Given the description of an element on the screen output the (x, y) to click on. 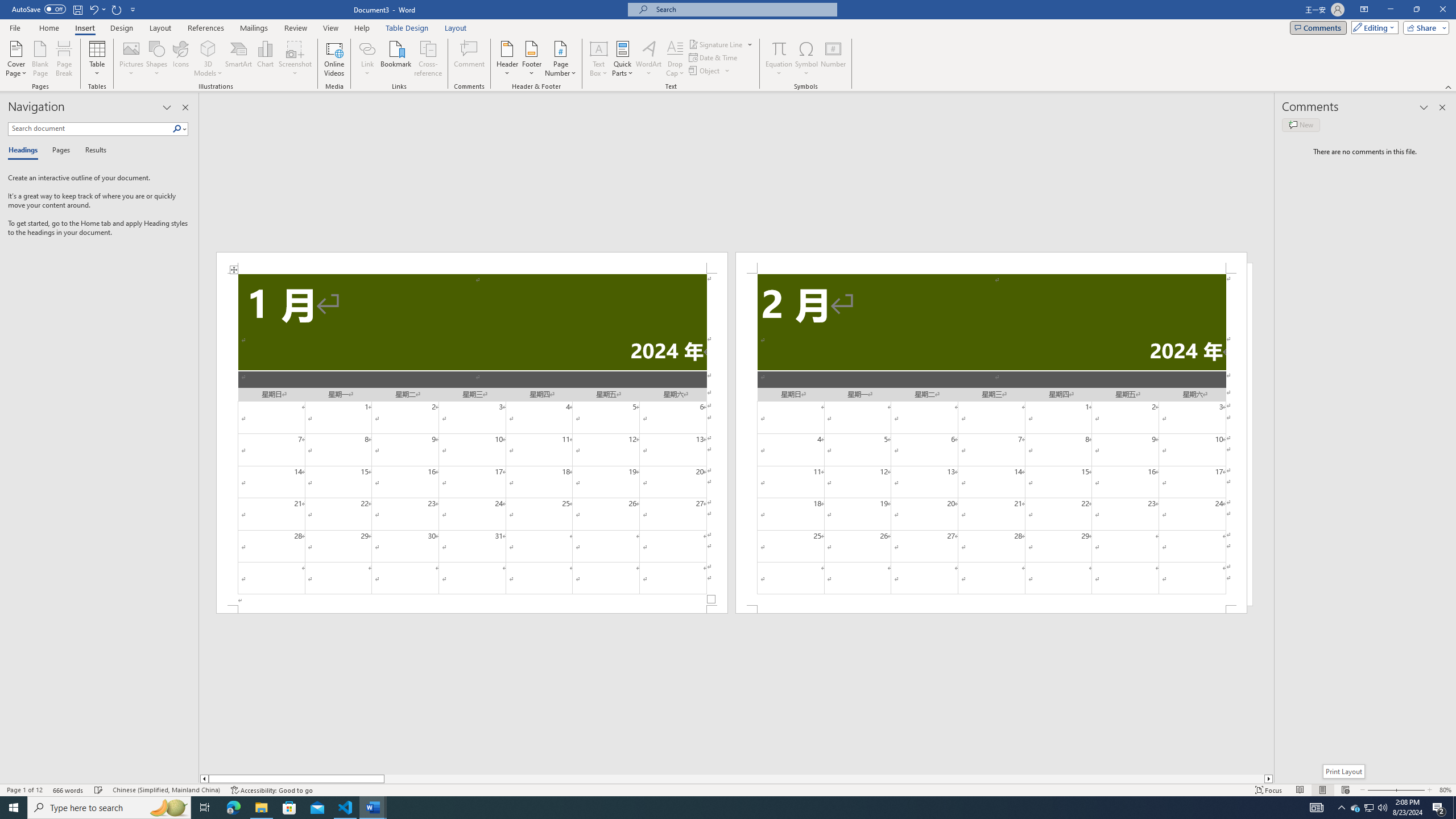
Footer -Section 2- (991, 609)
Equation (778, 58)
Results (91, 150)
Quick Access Toolbar (74, 9)
Zoom In (1408, 790)
Word Count 666 words (68, 790)
Help (361, 28)
File Tab (15, 27)
Customize Quick Access Toolbar (133, 9)
AutoSave (38, 9)
Mode (1372, 27)
Search document (89, 128)
Language Chinese (Simplified, Mainland China) (165, 790)
